Given the description of an element on the screen output the (x, y) to click on. 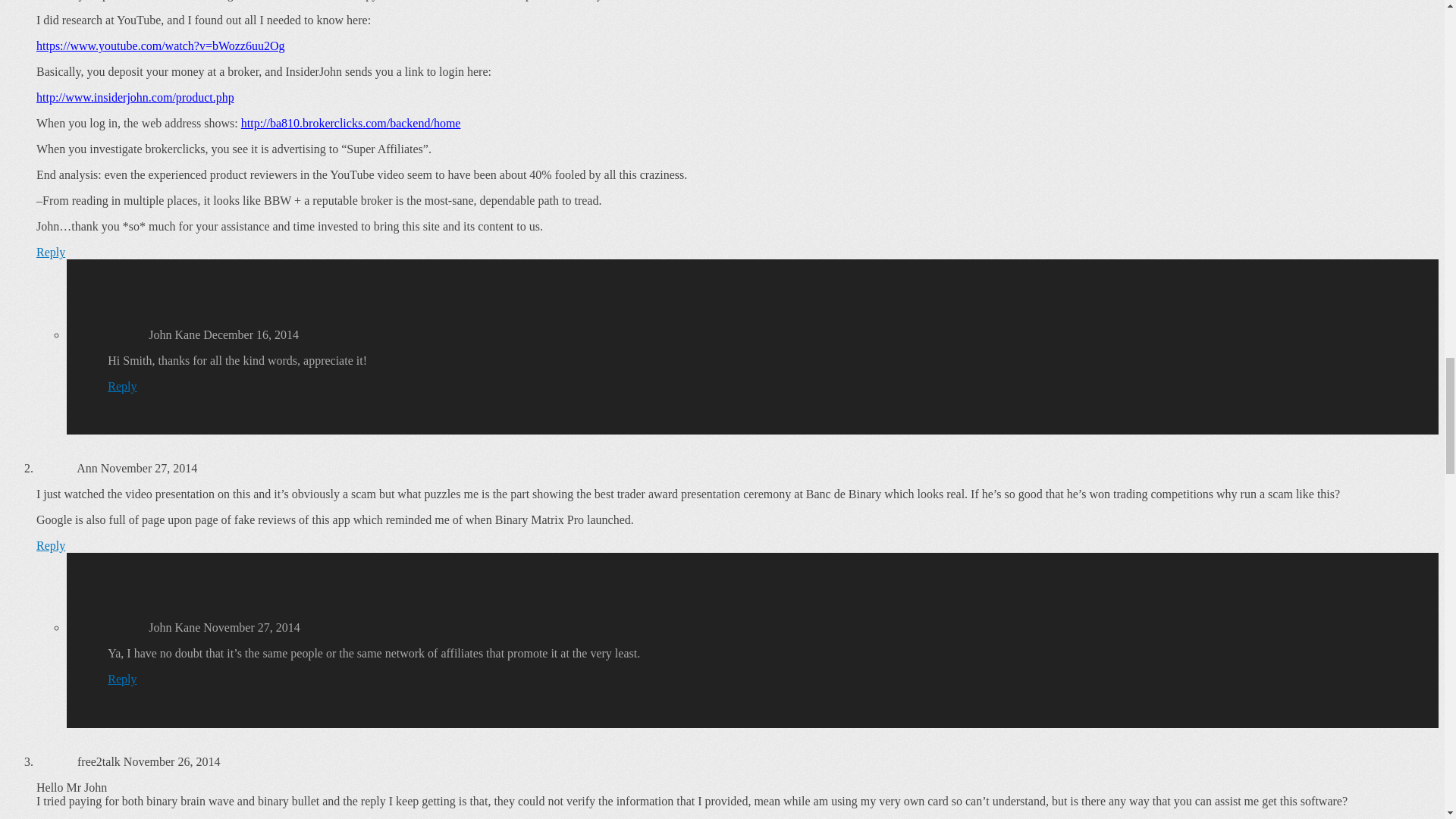
Reply (50, 545)
Reply (50, 251)
Reply (121, 678)
Reply (121, 386)
